Given the description of an element on the screen output the (x, y) to click on. 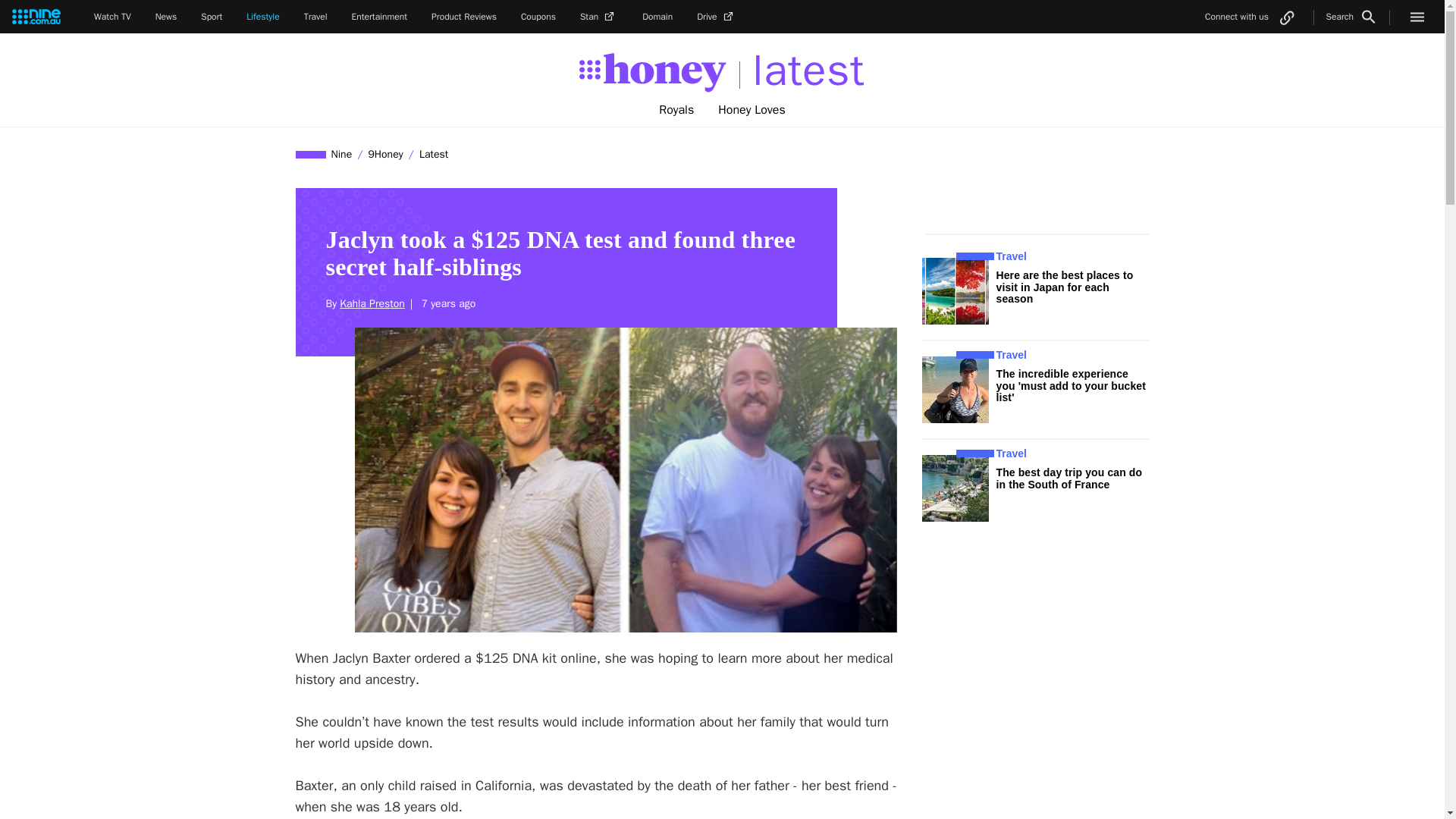
Nine (342, 154)
The incredible experience you 'must add to your bucket list' (1070, 385)
Domain (657, 16)
Here are the best places to visit in Japan for each season (1064, 286)
Royals (676, 109)
2017-09-27 02:02 (446, 303)
Coupons (538, 16)
Entertainment (379, 16)
Drive (716, 16)
Latest (432, 154)
